Given the description of an element on the screen output the (x, y) to click on. 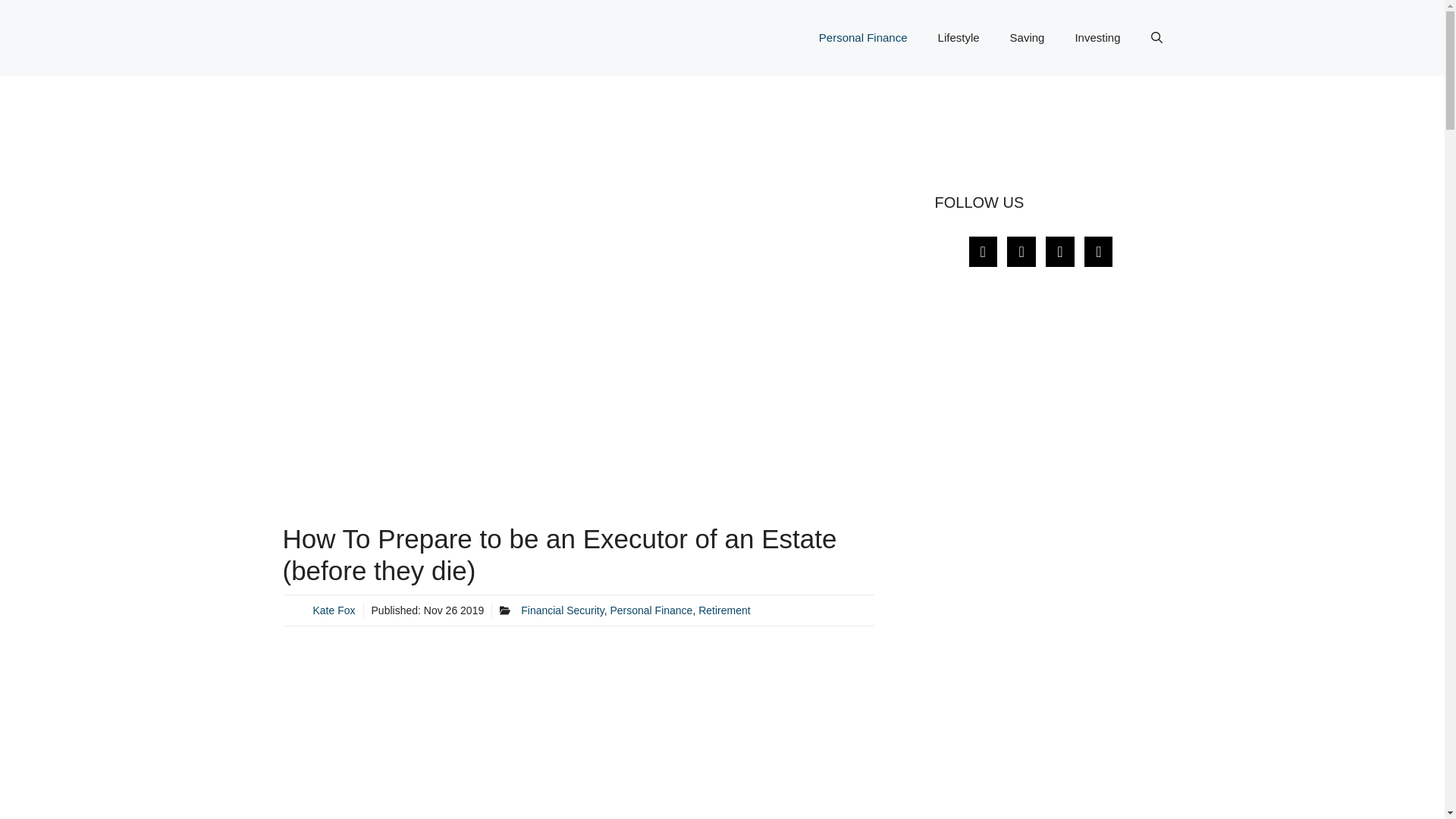
Financial Security (562, 610)
Saving (1026, 37)
Lifestyle (958, 37)
Investing (1097, 37)
Retirement (723, 610)
Kate Fox (334, 610)
Personal Finance (863, 37)
Personal Finance (651, 610)
